Given the description of an element on the screen output the (x, y) to click on. 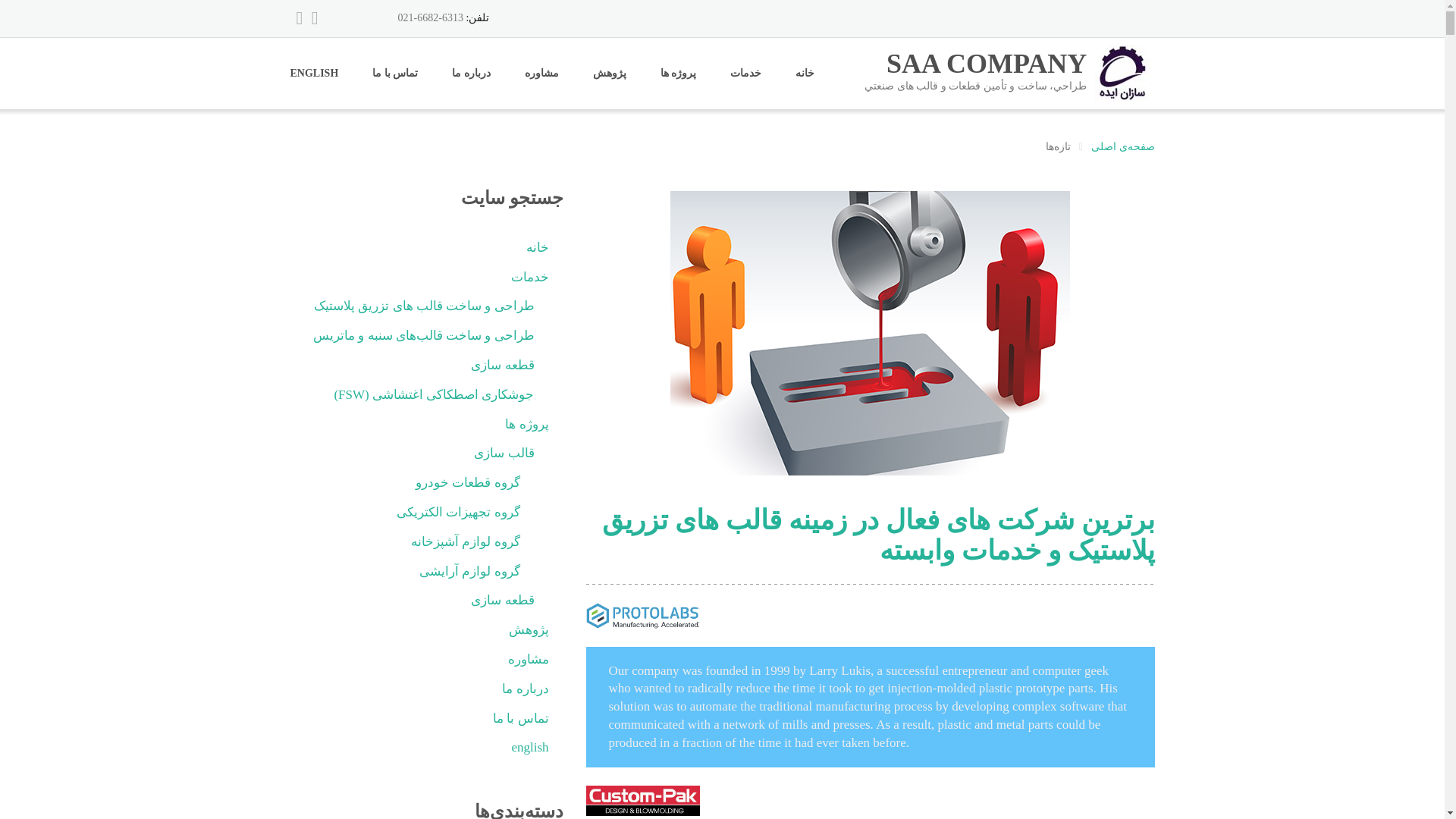
ENGLISH (313, 144)
SAA COMPANY (984, 72)
SAA COMPANY (1122, 217)
